Given the description of an element on the screen output the (x, y) to click on. 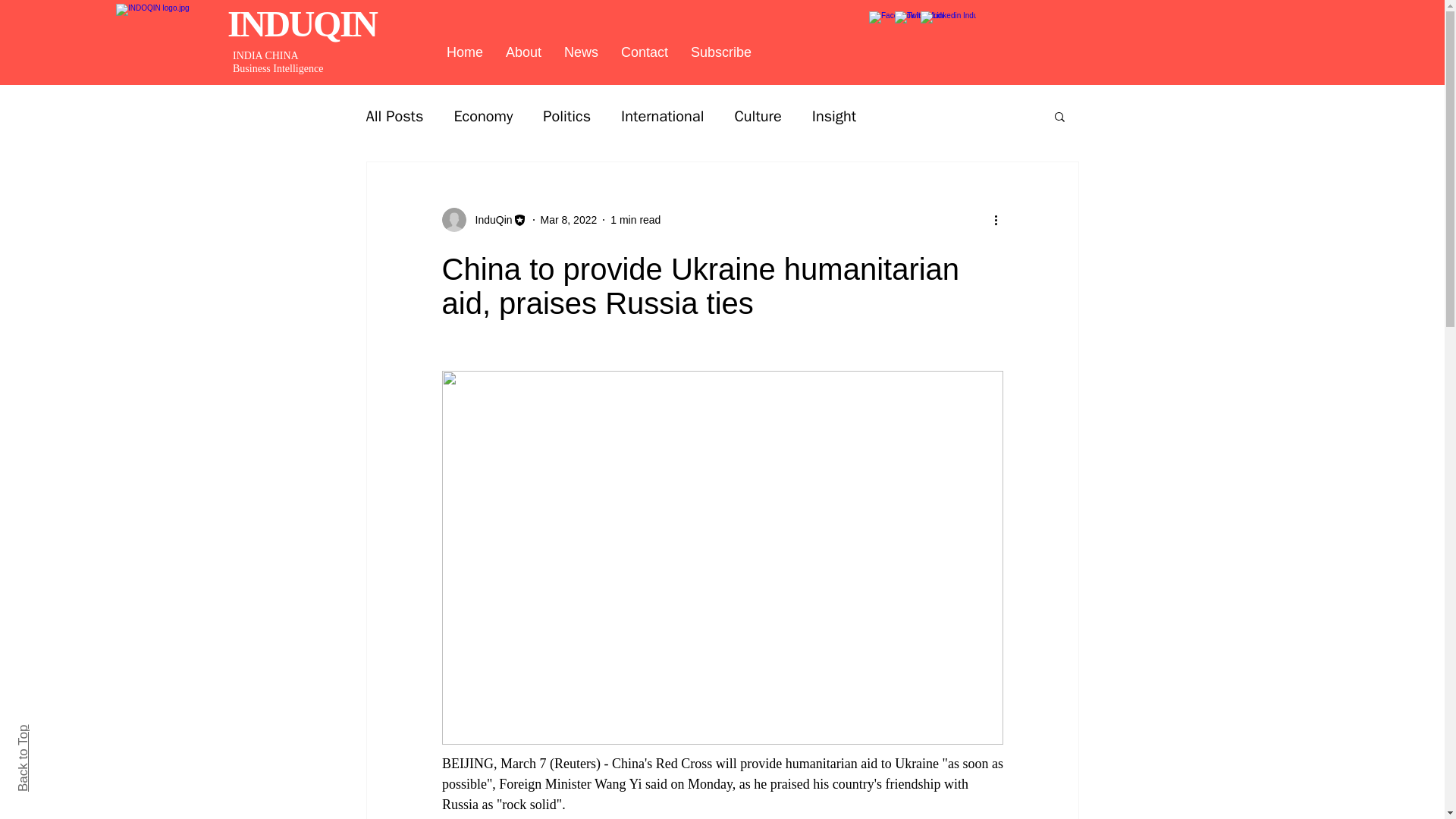
Subscribe (720, 51)
Home (465, 51)
News (581, 51)
International (662, 116)
All Posts (394, 116)
Mar 8, 2022 (568, 219)
Economy (482, 116)
Back to Top (49, 730)
InduQin (488, 220)
Contact (644, 51)
